Given the description of an element on the screen output the (x, y) to click on. 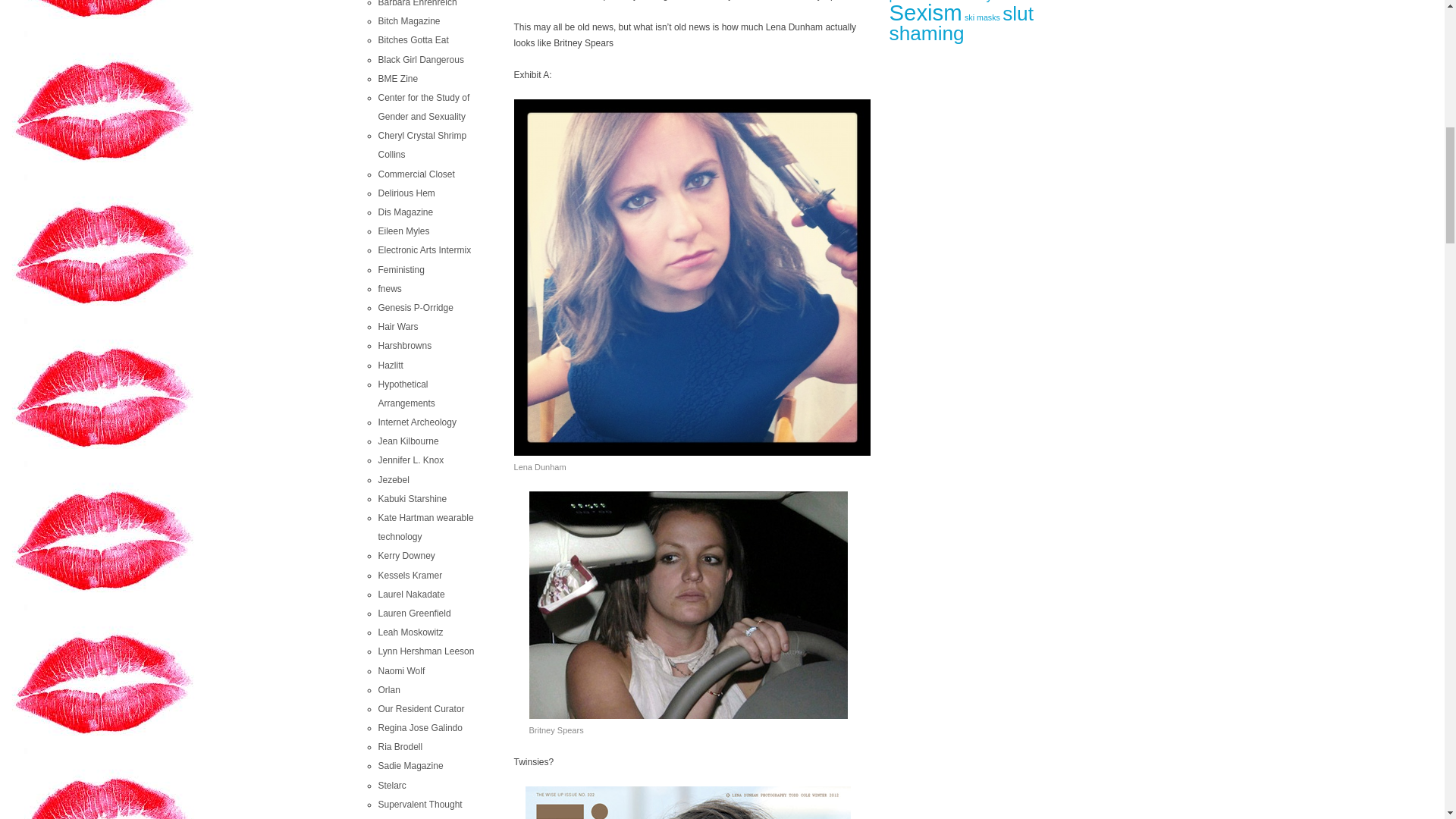
Commercial Closet (415, 173)
Lauren Berlant (419, 804)
Center for the Study of Gender and Sexuality (422, 107)
Cheryl Crystal Shrimp Collins (421, 144)
BME Zine (397, 78)
Delirious Hem (405, 193)
Bitches Gotta Eat (412, 40)
Barbara Ehrenreich (417, 3)
Black Girl Dangerous (420, 59)
Bitch Magazine (408, 20)
